Given the description of an element on the screen output the (x, y) to click on. 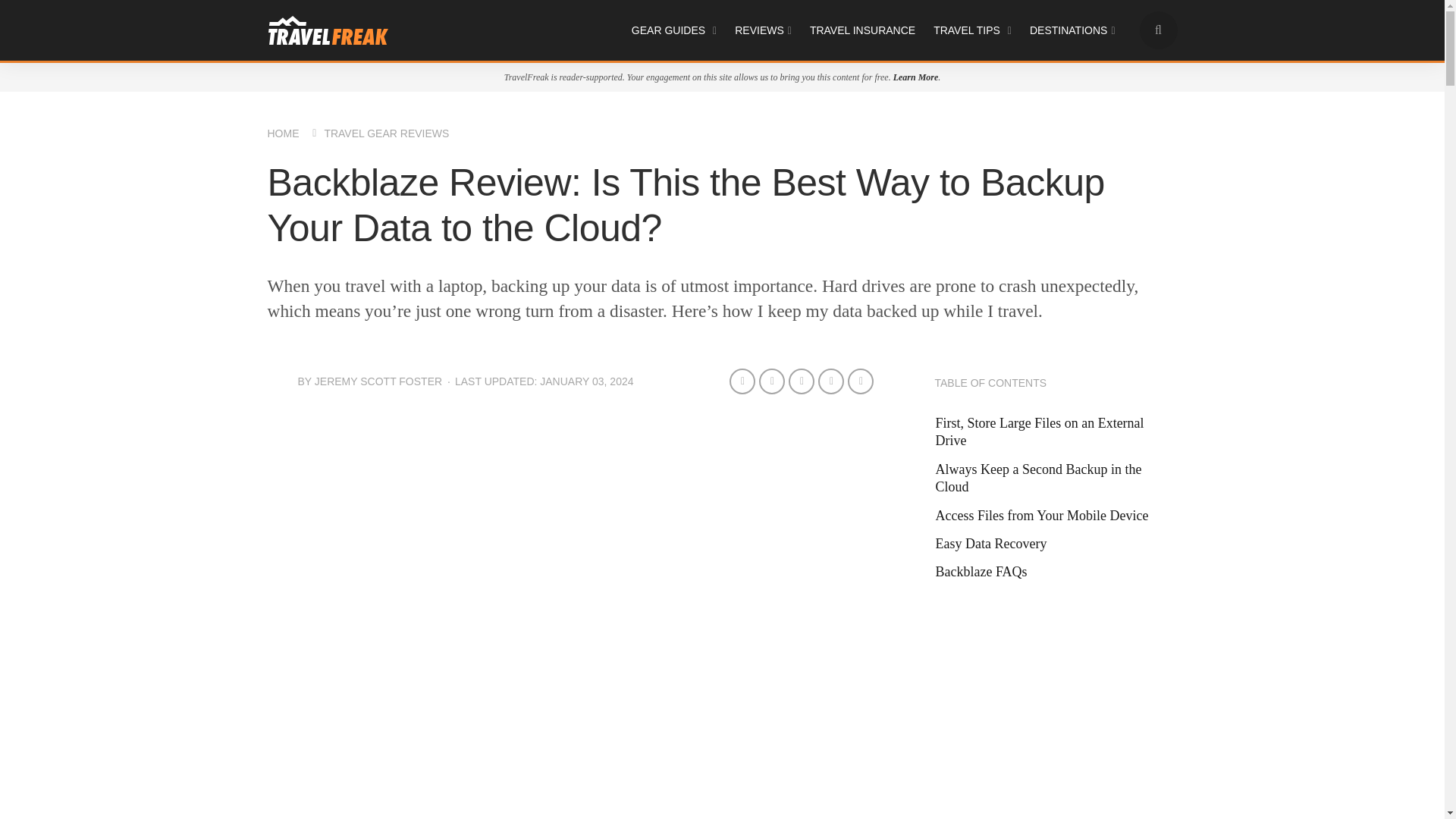
Share with Email (831, 380)
Easy Data Recovery (996, 543)
Share on Pinterest (801, 380)
Backblaze FAQs (986, 571)
Print (860, 380)
Always Keep a Second Backup in the Cloud (1055, 478)
Share on Twitter (771, 380)
First, Store Large Files on an External Drive (1055, 432)
Access Files from Your Mobile Device (1046, 515)
Share on Facebook (742, 380)
